Given the description of an element on the screen output the (x, y) to click on. 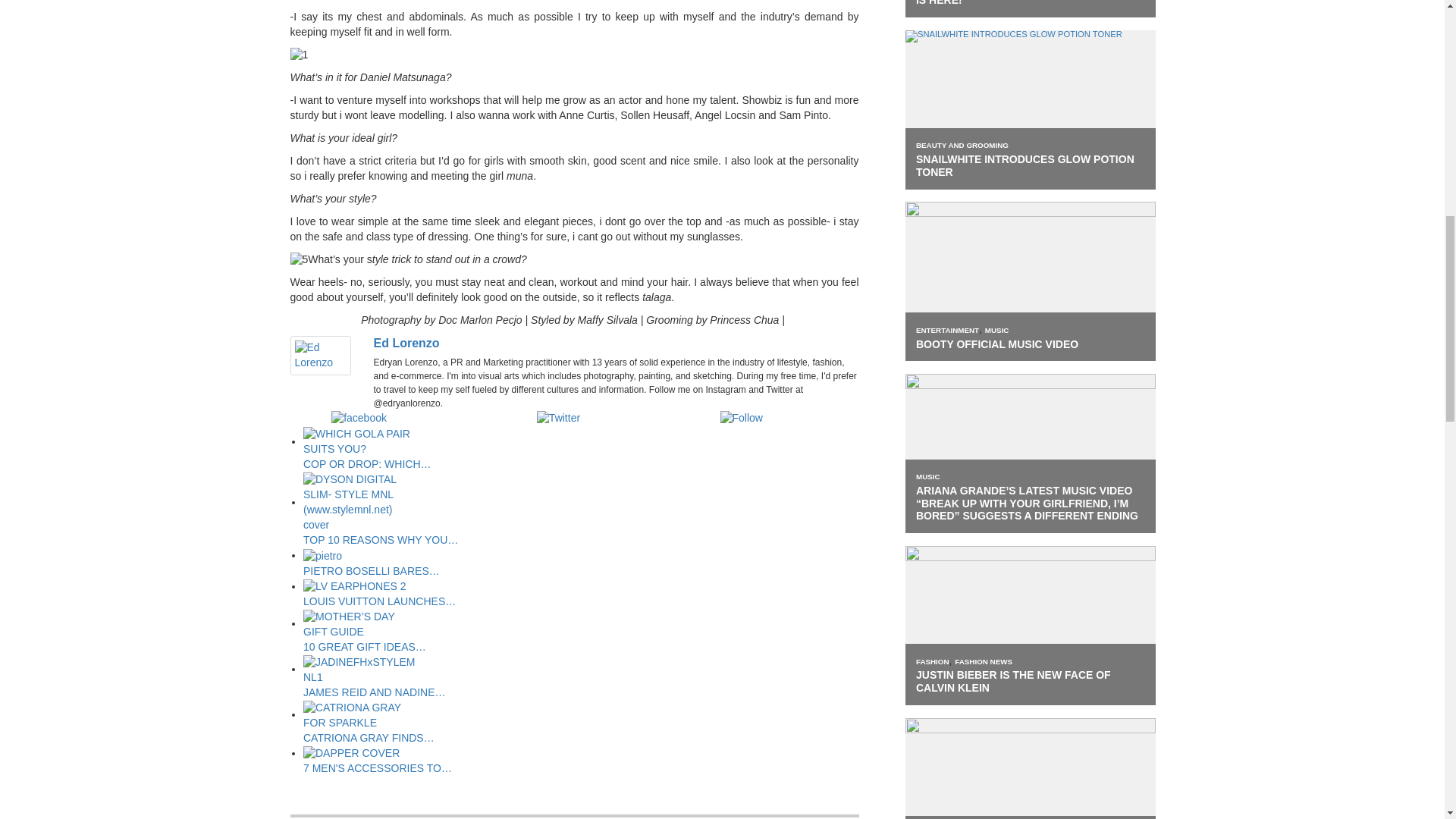
7 MEN'S ACCESSORIES TO STEP UP THE STYLING GAME THIS SEASON (350, 753)
10 GREAT GIFT IDEAS FOR MOM THIS MOTHER'S DAY (359, 624)
Ed Lorenzo (319, 354)
PIETRO BOSELLI BARES IT ALL FOR OBSESSION SERIES NO. 14 (322, 556)
Facebook (387, 418)
COP OR DROP: WHICH GOLA PAIR SUITS YOU? (359, 441)
Ed Lorenzo (405, 342)
CATRIONA GRAY FINDS MORE REASONS TO SMILE WITH SPARKLE (359, 716)
Tweet (576, 418)
